Given the description of an element on the screen output the (x, y) to click on. 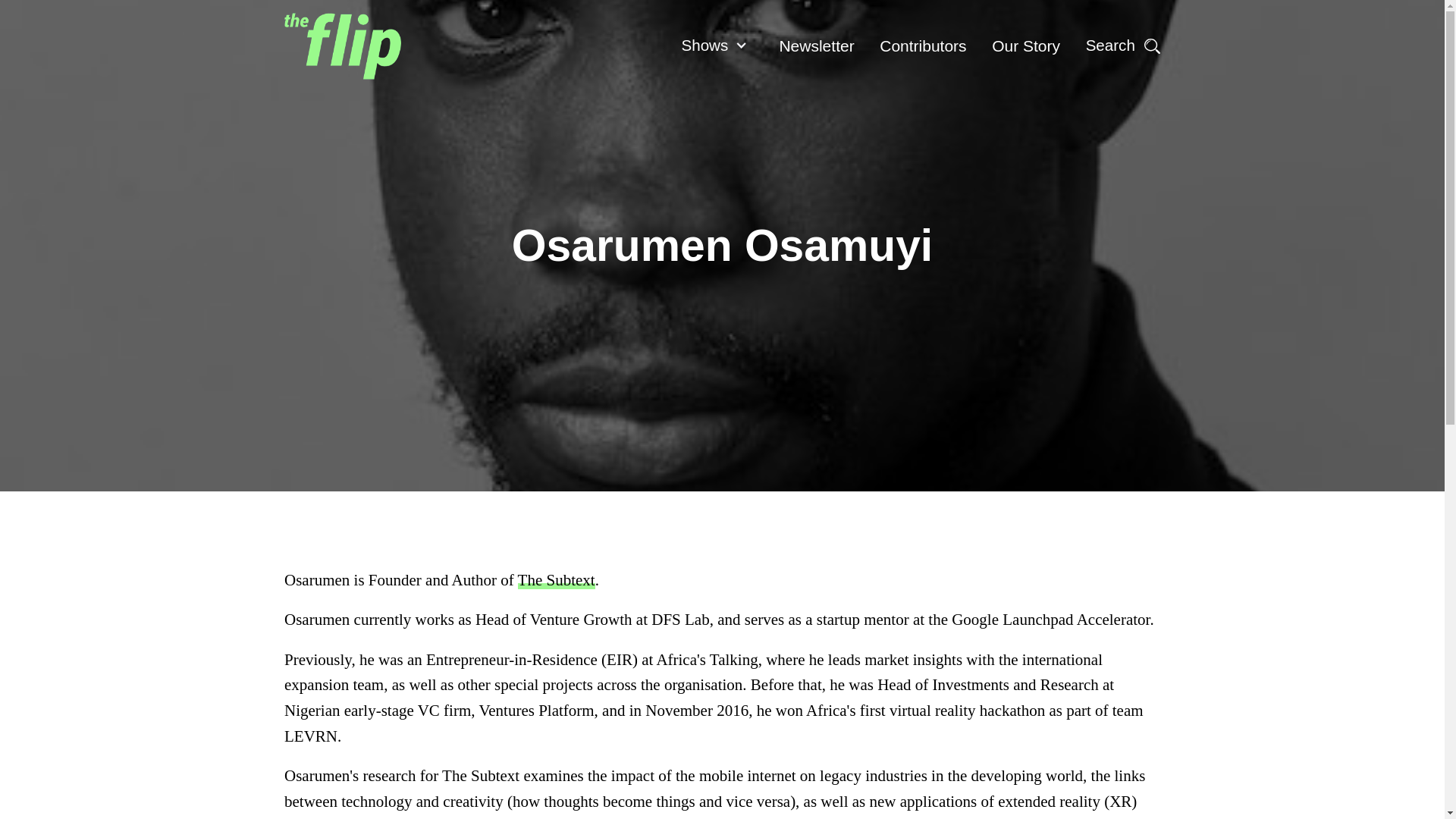
Contributors (923, 45)
Shows (704, 45)
Newsletter (816, 45)
The Subtext (556, 579)
Our Story (1026, 45)
Search (1122, 46)
